Given the description of an element on the screen output the (x, y) to click on. 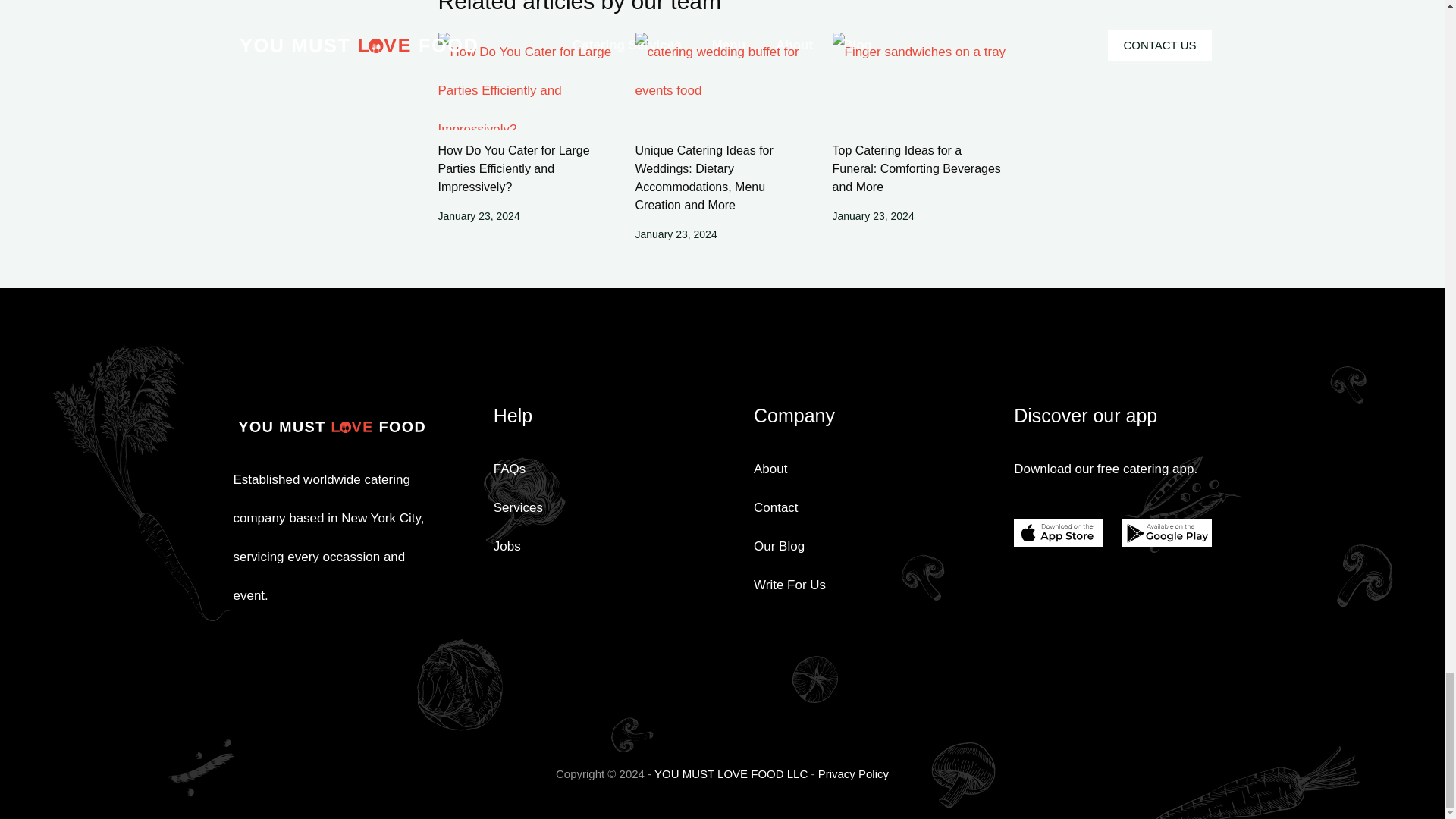
Write For Us (789, 585)
Privacy Policy (853, 773)
Jobs (507, 545)
FAQs (509, 468)
Our Blog (779, 545)
Services (518, 507)
About (770, 468)
